Given the description of an element on the screen output the (x, y) to click on. 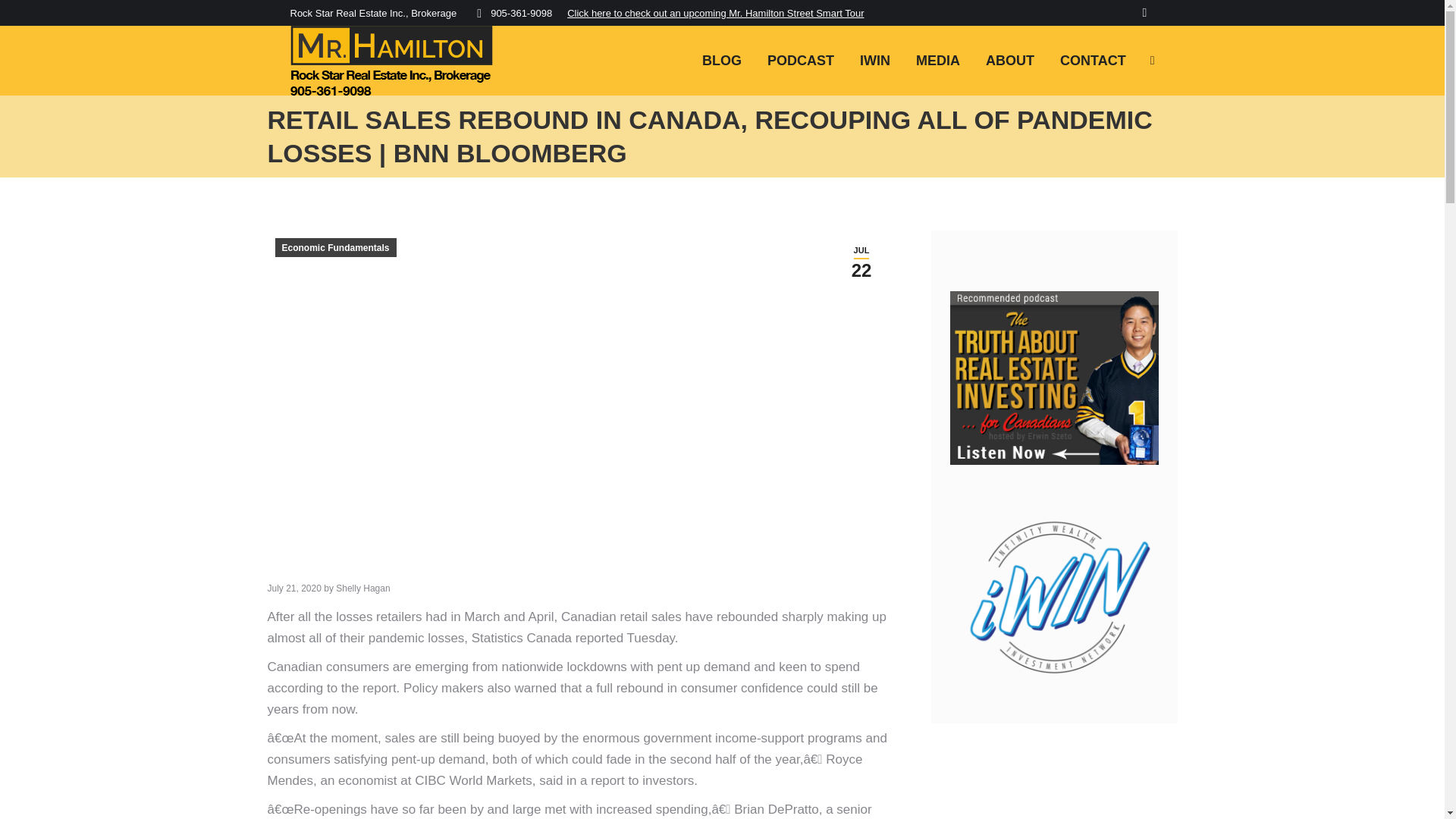
ABOUT (861, 261)
10:48 am (1009, 60)
MEDIA (861, 261)
Facebook page opens in new window (938, 60)
IWIN (1144, 12)
BLOG (874, 60)
Economic Fundamentals (722, 60)
PODCAST (335, 247)
